Given the description of an element on the screen output the (x, y) to click on. 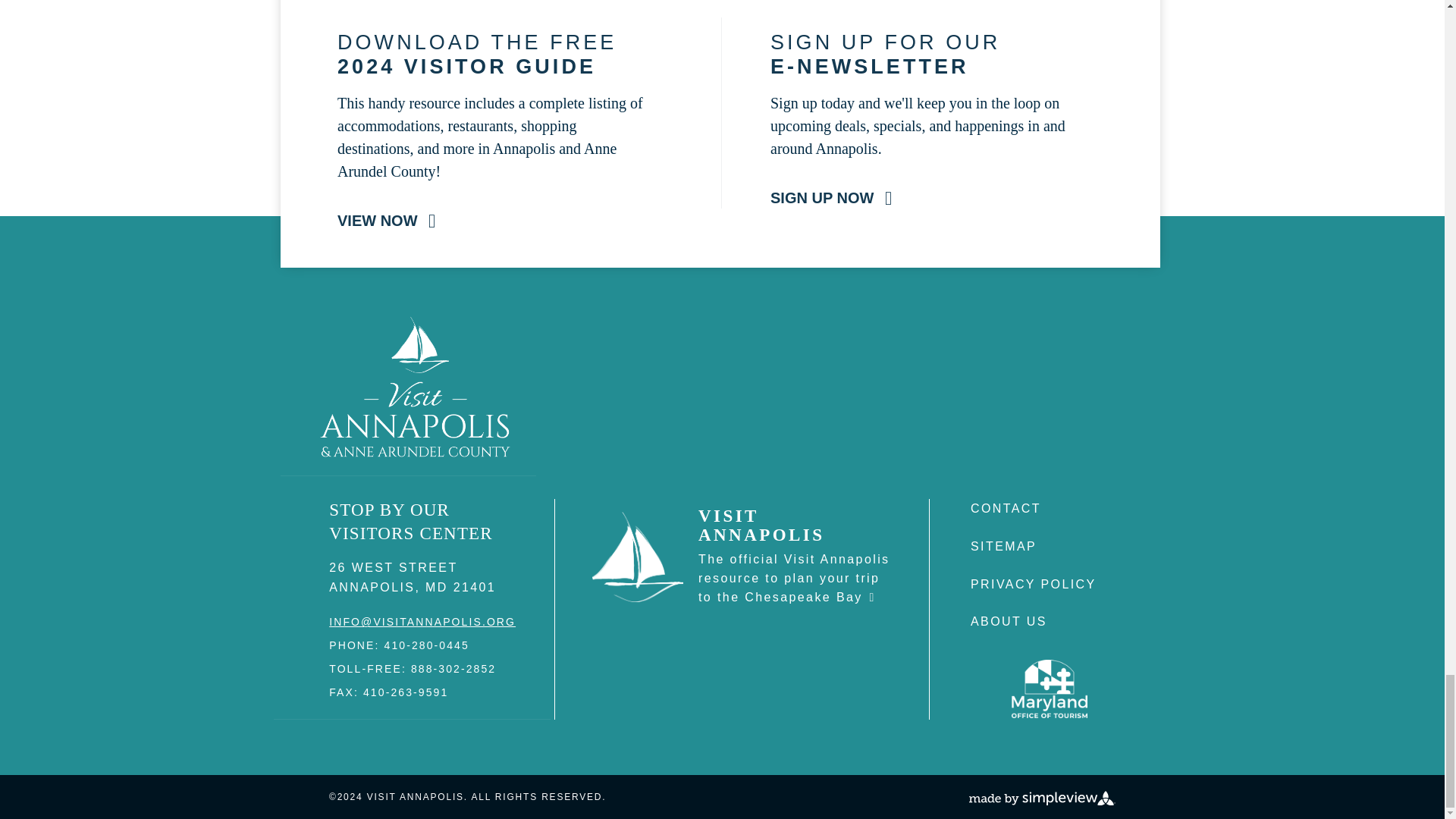
Contact (1006, 508)
Privacy Policy (1033, 584)
About Us (1008, 621)
Sitemap (1003, 545)
